Given the description of an element on the screen output the (x, y) to click on. 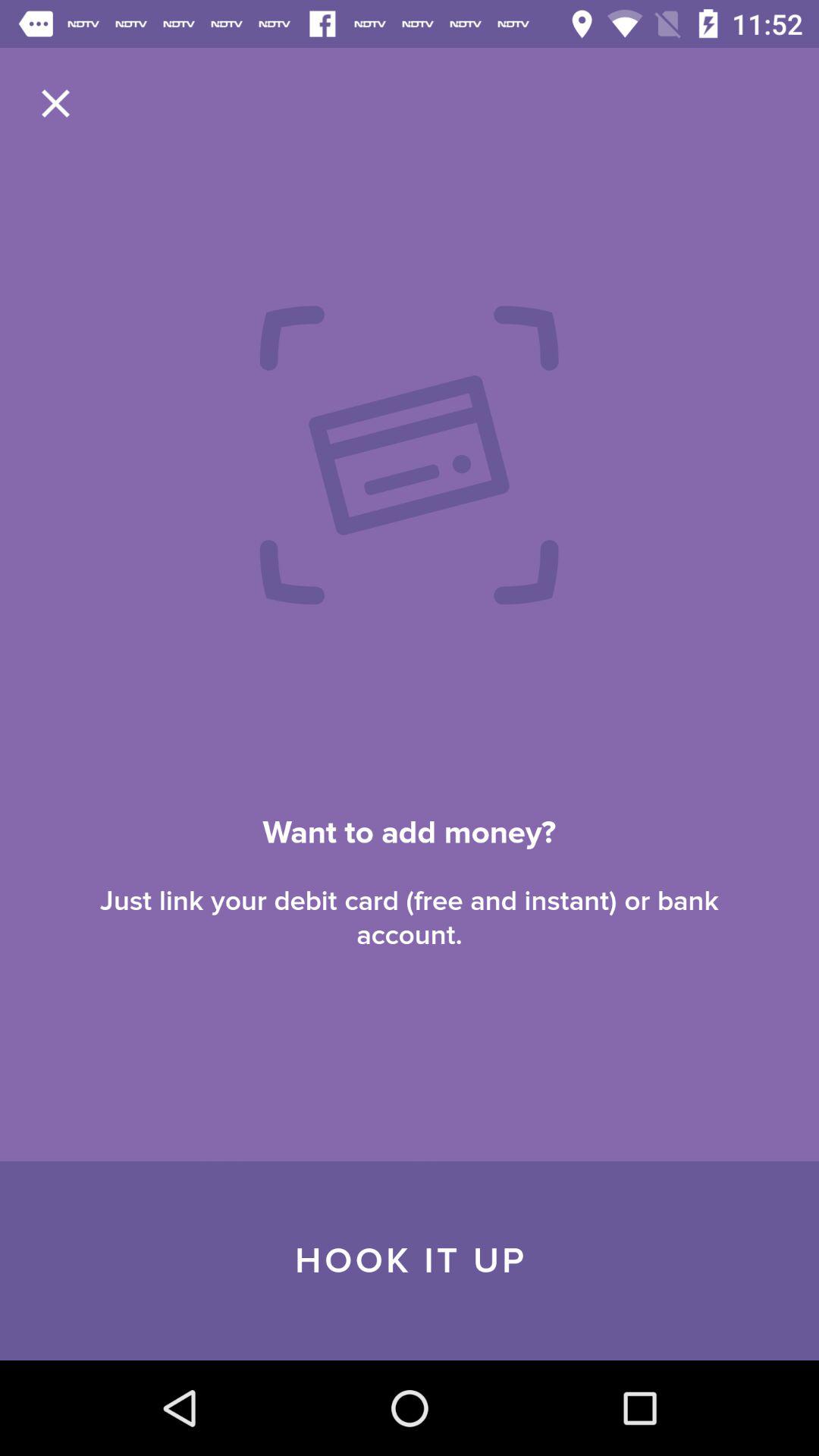
press the icon above the just link your (55, 103)
